Given the description of an element on the screen output the (x, y) to click on. 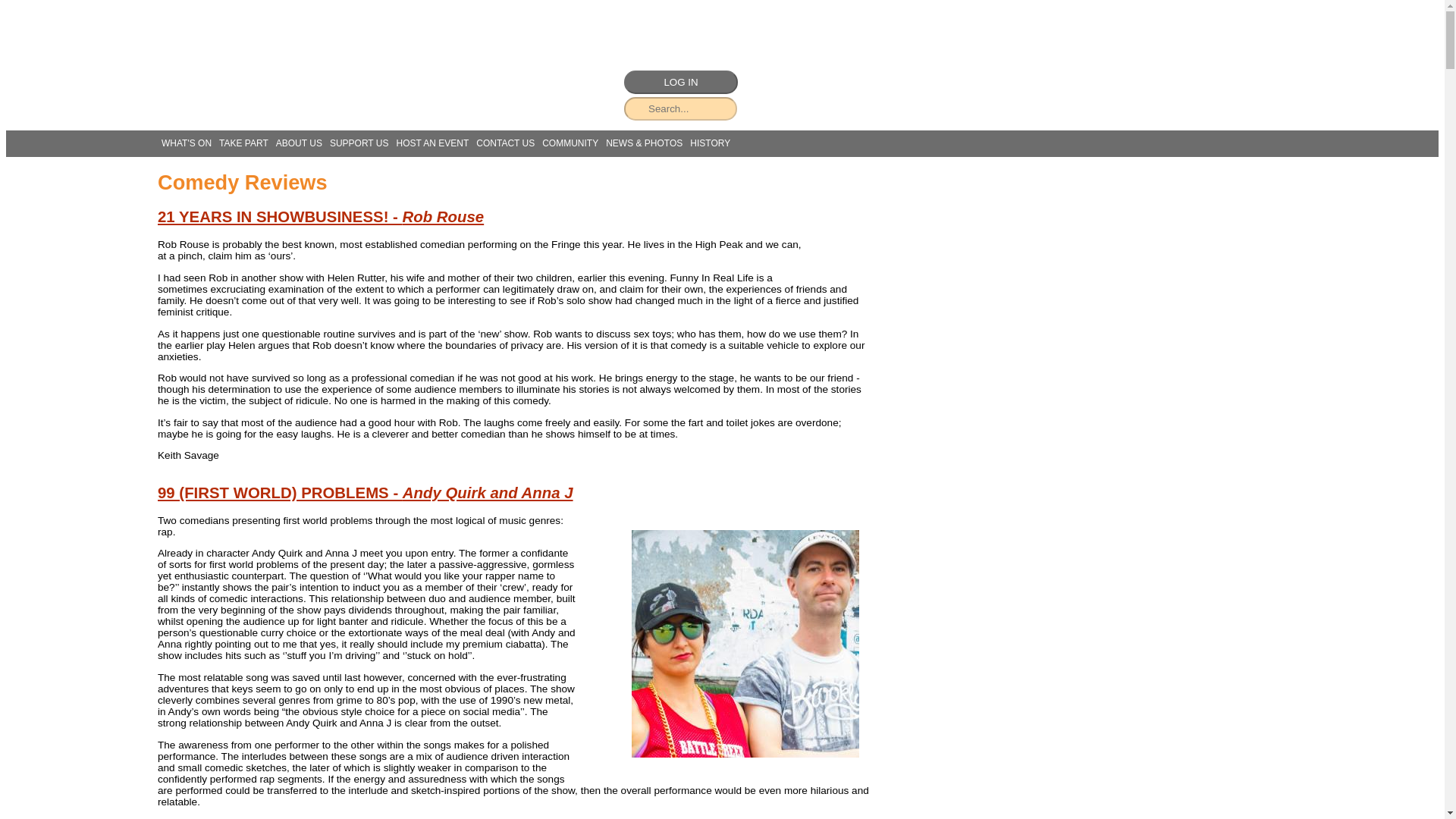
21 YEARS IN SHOWBUSINESS! - Rob Rouse (320, 216)
TAKE PART (243, 143)
LOG IN (681, 82)
SUPPORT US (359, 143)
COMMUNITY (570, 143)
CONTACT US (504, 143)
HISTORY (709, 143)
ABOUT US (299, 143)
LOG IN (681, 82)
WHAT'S ON (186, 143)
HOST AN EVENT (431, 143)
